Given the description of an element on the screen output the (x, y) to click on. 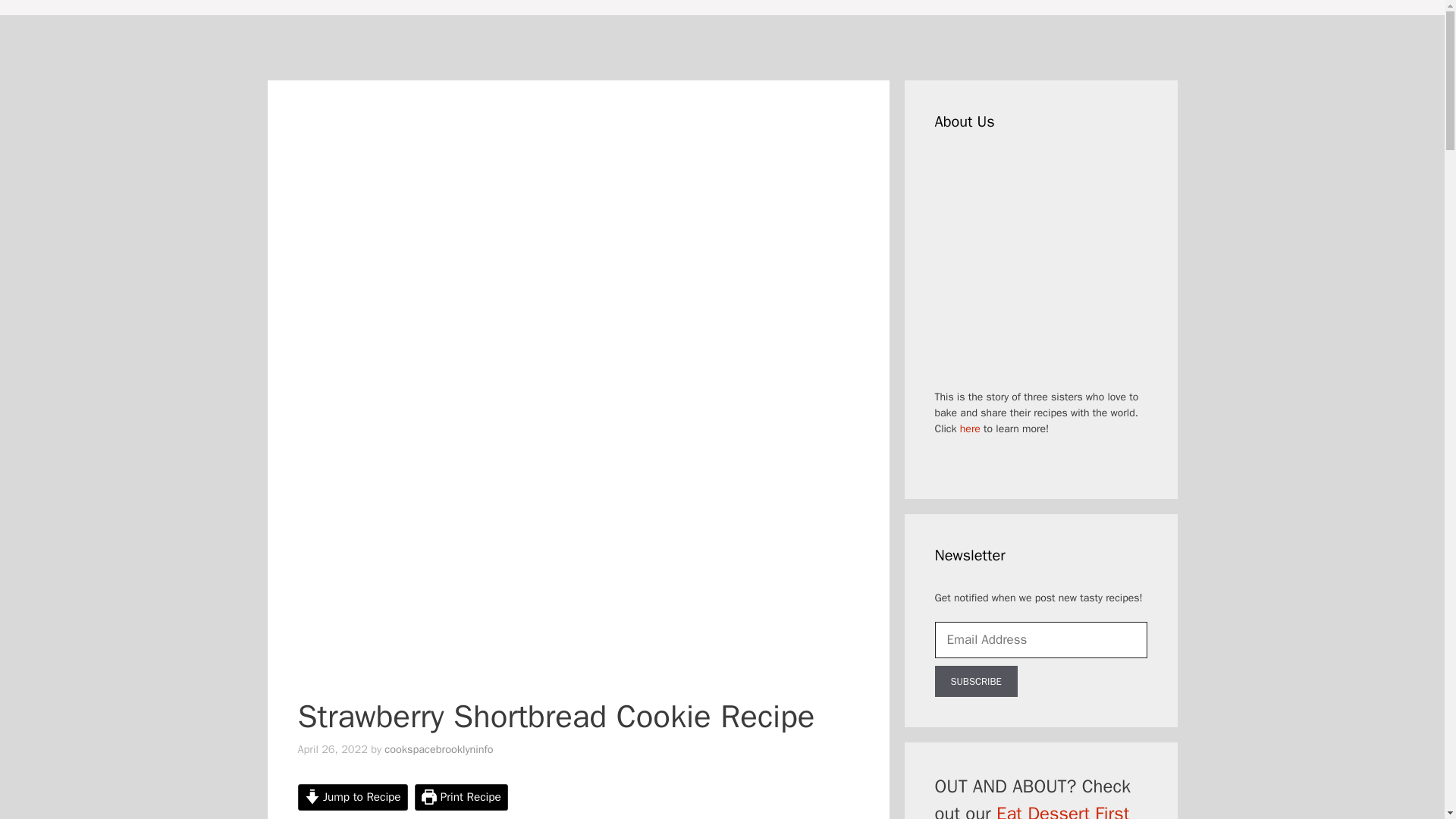
cookspacebrooklyninfo (438, 748)
Subscribe (975, 681)
here (969, 428)
View all posts by cookspacebrooklyninfo (438, 748)
Jump to Recipe (352, 796)
Subscribe (975, 681)
Eat Dessert First City Guide (1031, 810)
Print Recipe (461, 796)
